Given the description of an element on the screen output the (x, y) to click on. 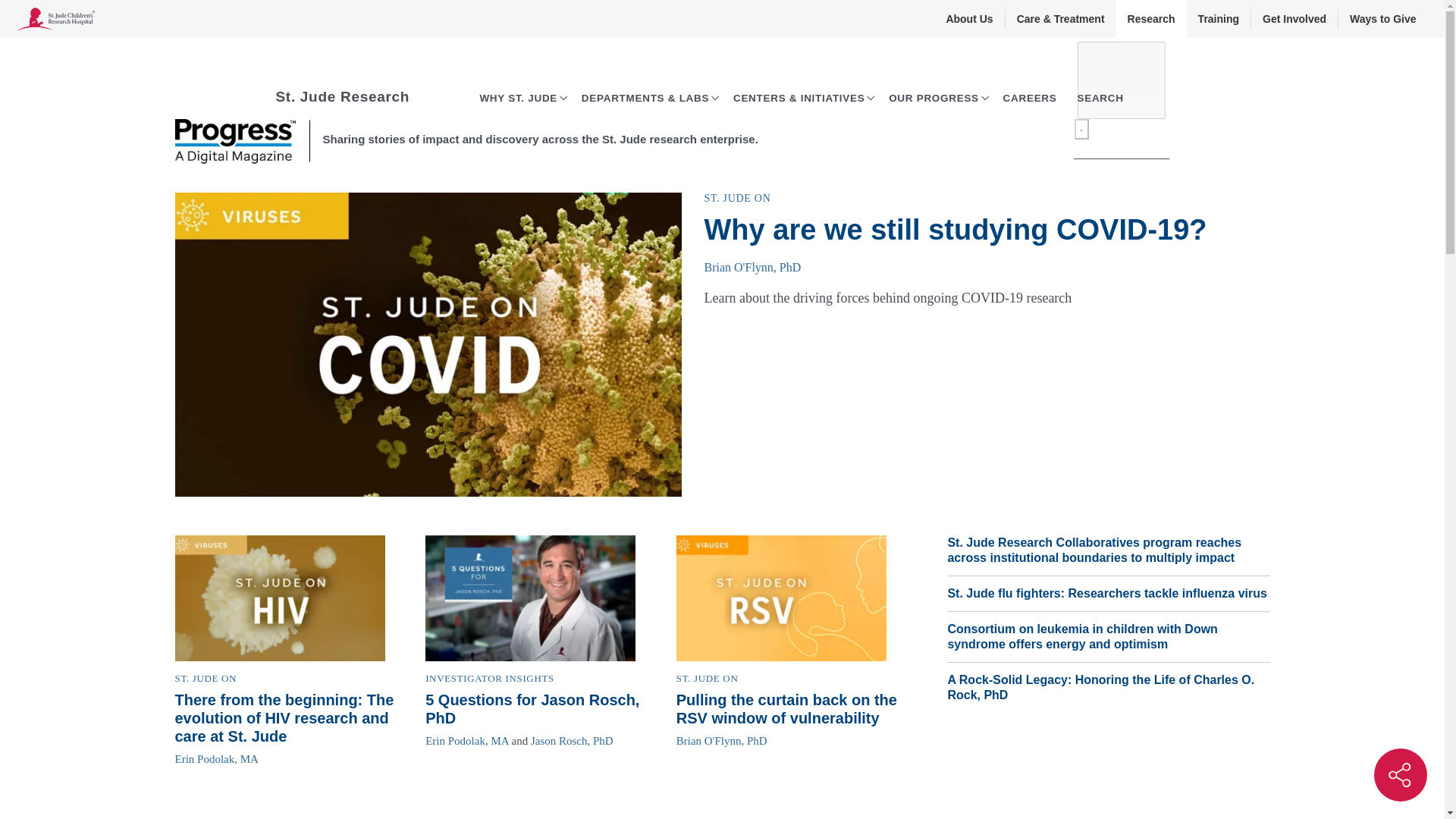
OUR PROGRESS (933, 98)
WHY ST. JUDE (518, 98)
CAREERS (1030, 98)
WHY ST. JUDE (522, 98)
Training (1218, 18)
St. Jude Research (343, 95)
Get Involved (1294, 18)
Ways to Give (1382, 18)
About Us (969, 18)
